Given the description of an element on the screen output the (x, y) to click on. 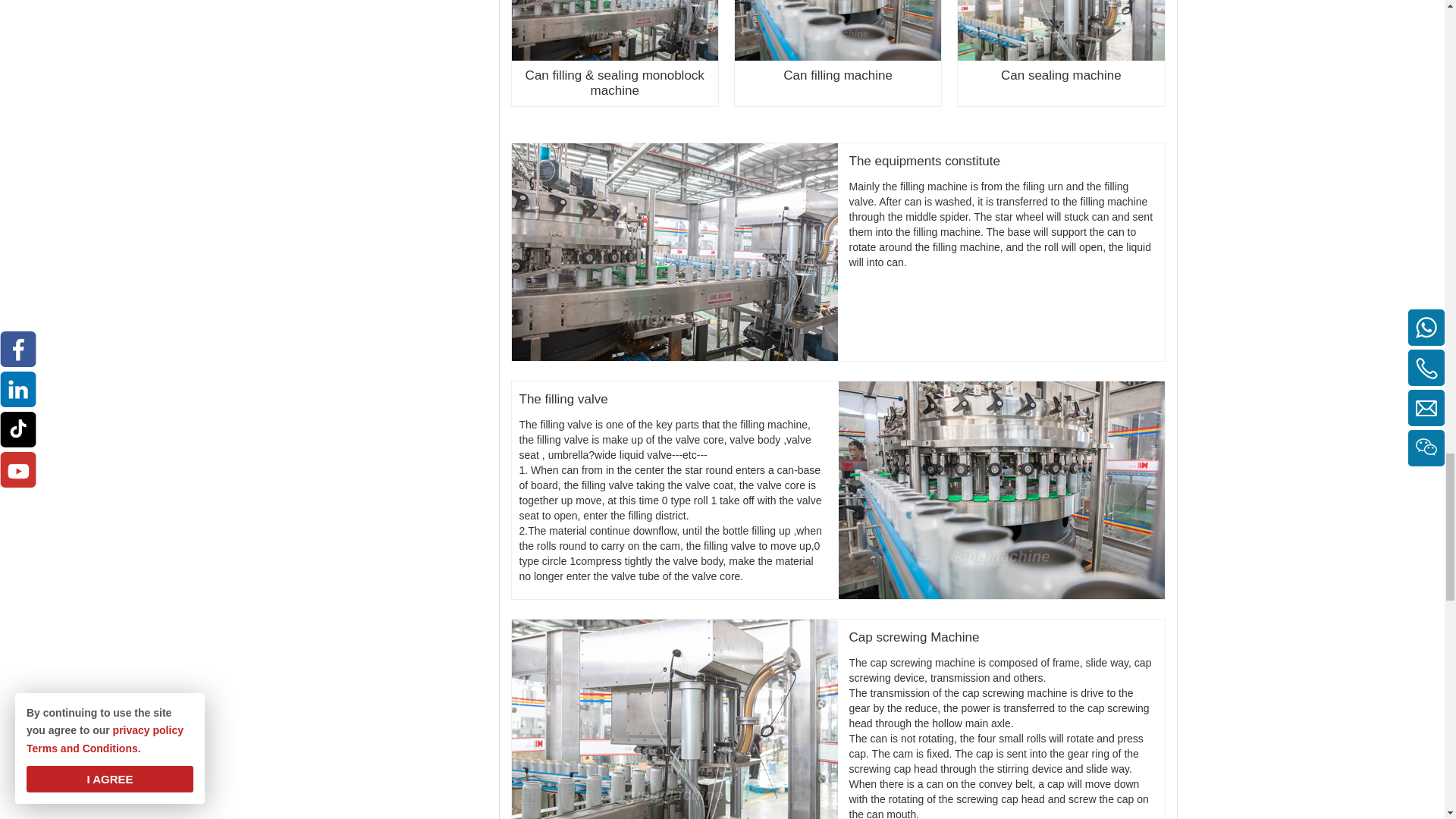
can sealing machine (1060, 30)
Canning Line (1001, 489)
Canning Line (837, 30)
counter pressure canning line (614, 30)
can sealing machine (674, 719)
counter pressure canning line (674, 252)
